Given the description of an element on the screen output the (x, y) to click on. 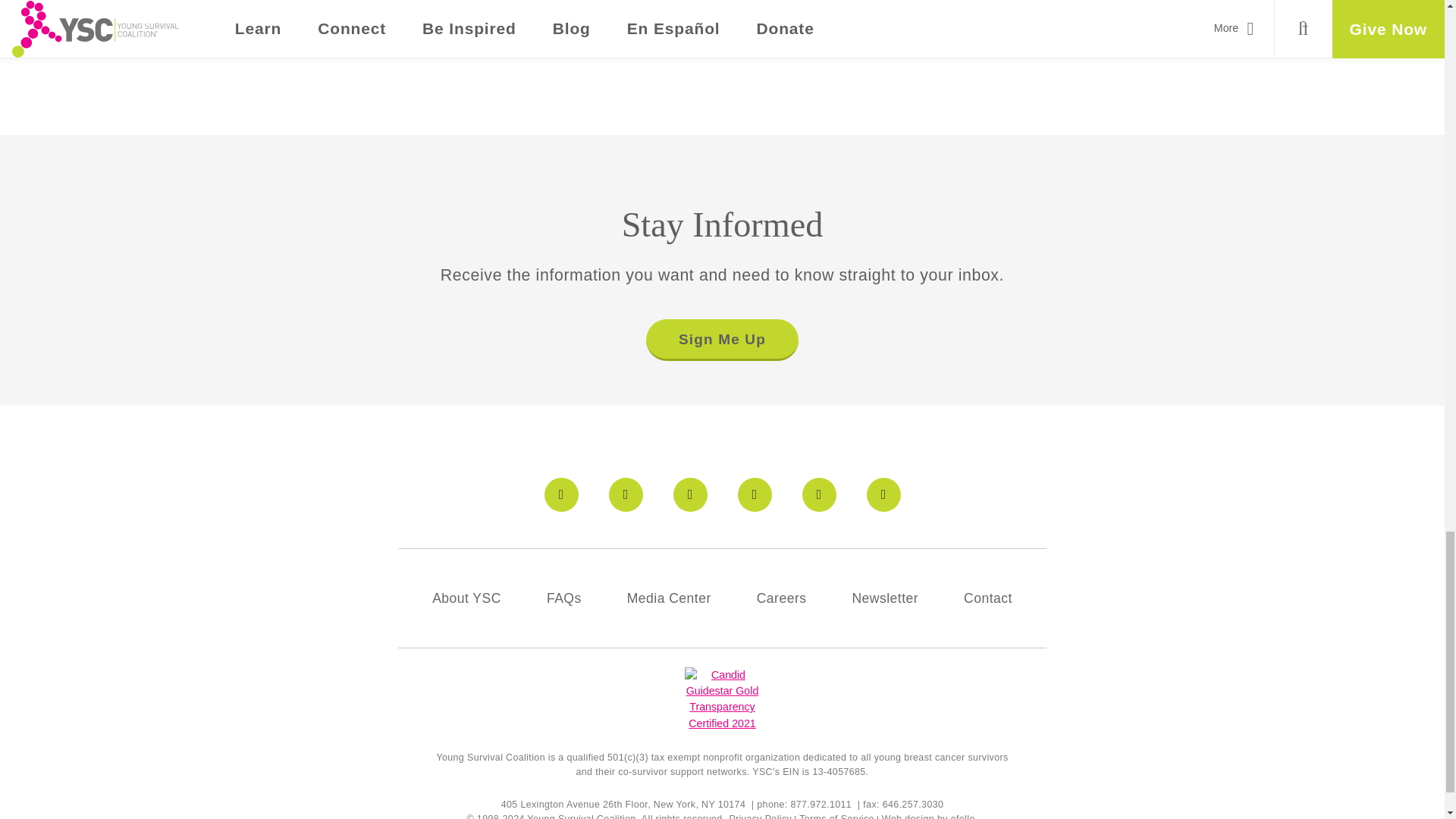
Web Design By Efelle (908, 816)
Sign Me Up (721, 339)
Candid Guidestar Gold Transparency Certified 2021 (721, 699)
